Given the description of an element on the screen output the (x, y) to click on. 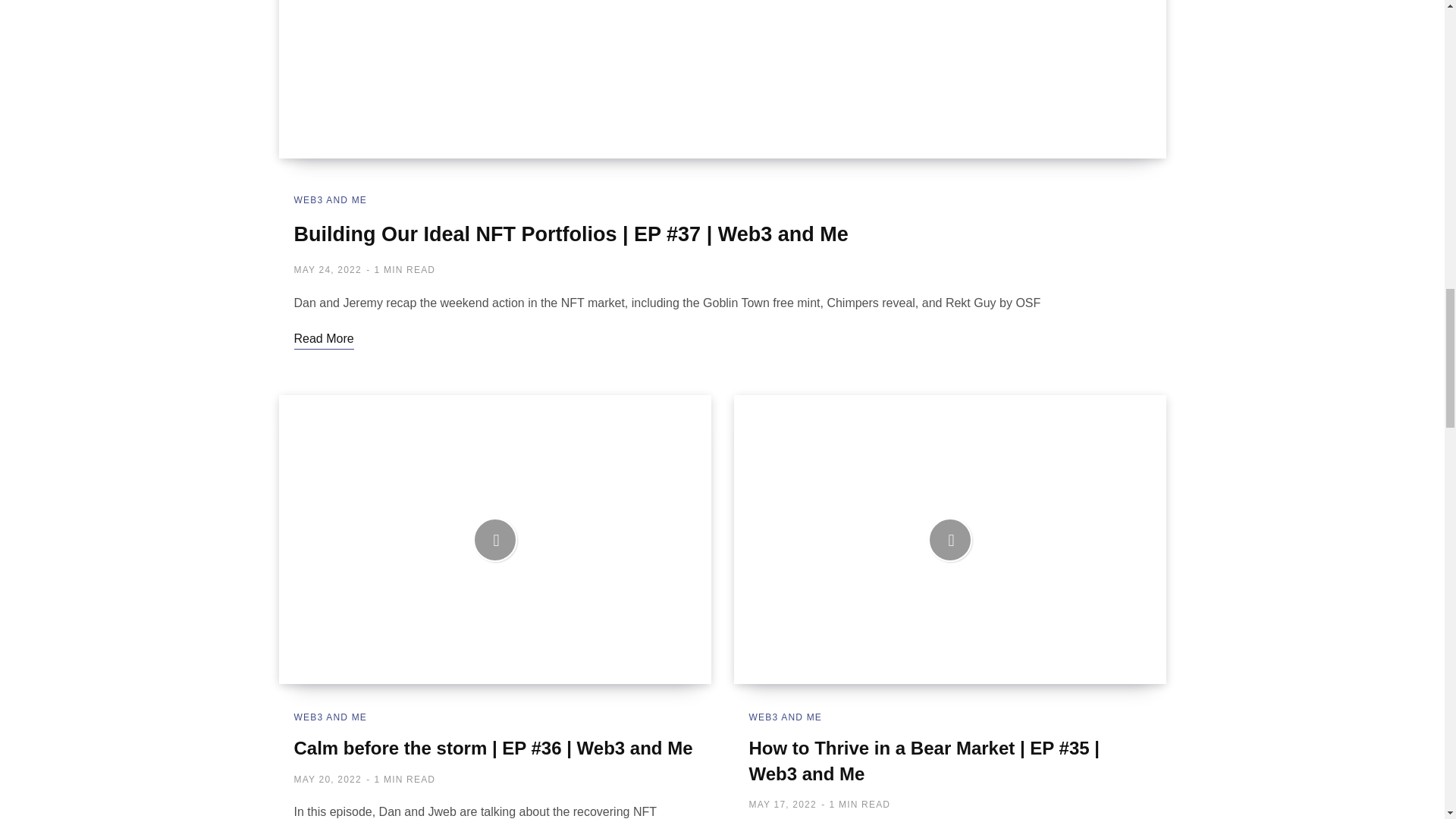
Read More (323, 338)
MAY 24, 2022 (327, 269)
WEB3 AND ME (785, 716)
WEB3 AND ME (331, 199)
MAY 20, 2022 (327, 778)
MAY 17, 2022 (782, 804)
WEB3 AND ME (331, 716)
